Given the description of an element on the screen output the (x, y) to click on. 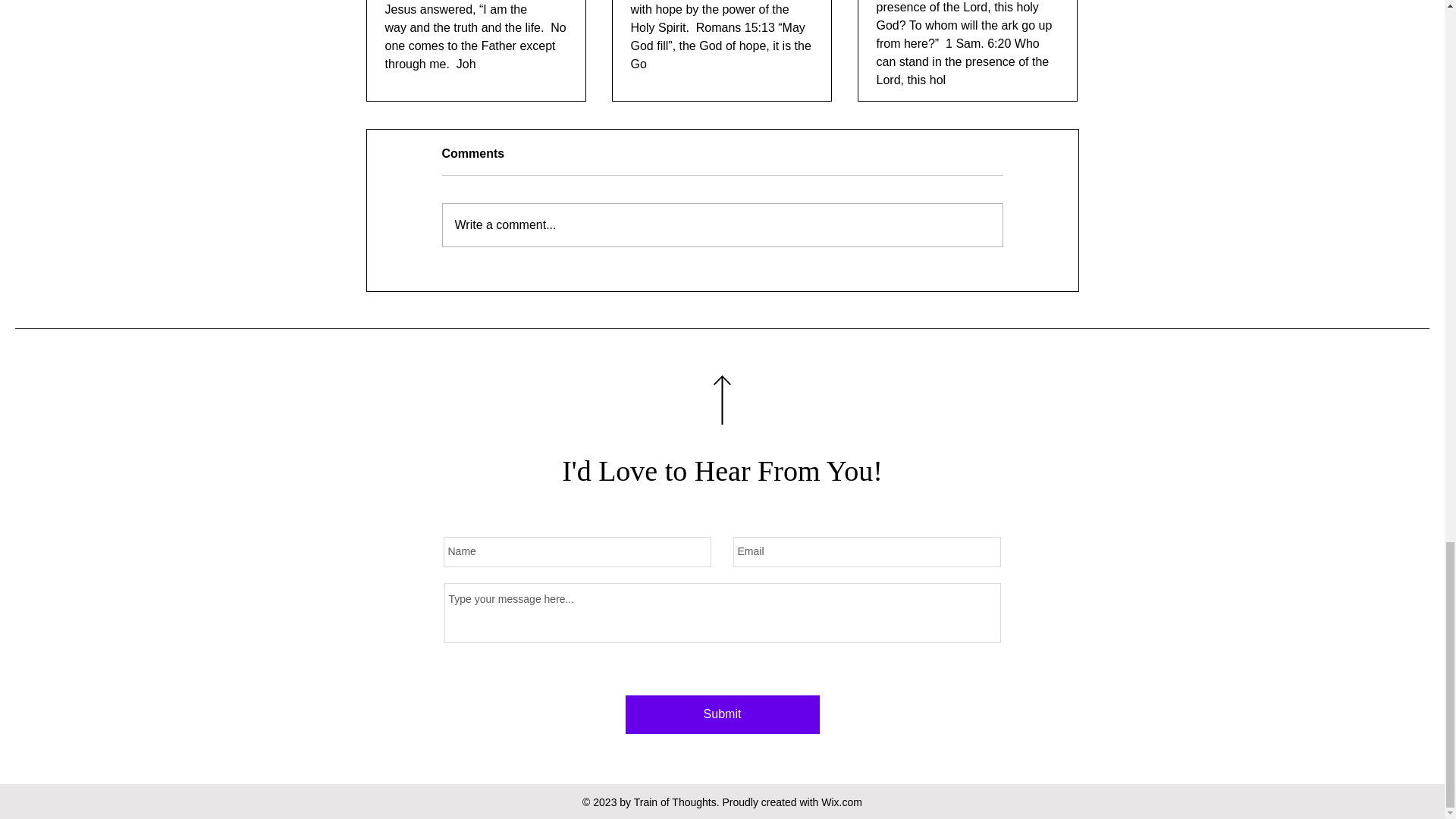
Write a comment... (722, 224)
Wix.com (841, 802)
Submit (721, 714)
